Given the description of an element on the screen output the (x, y) to click on. 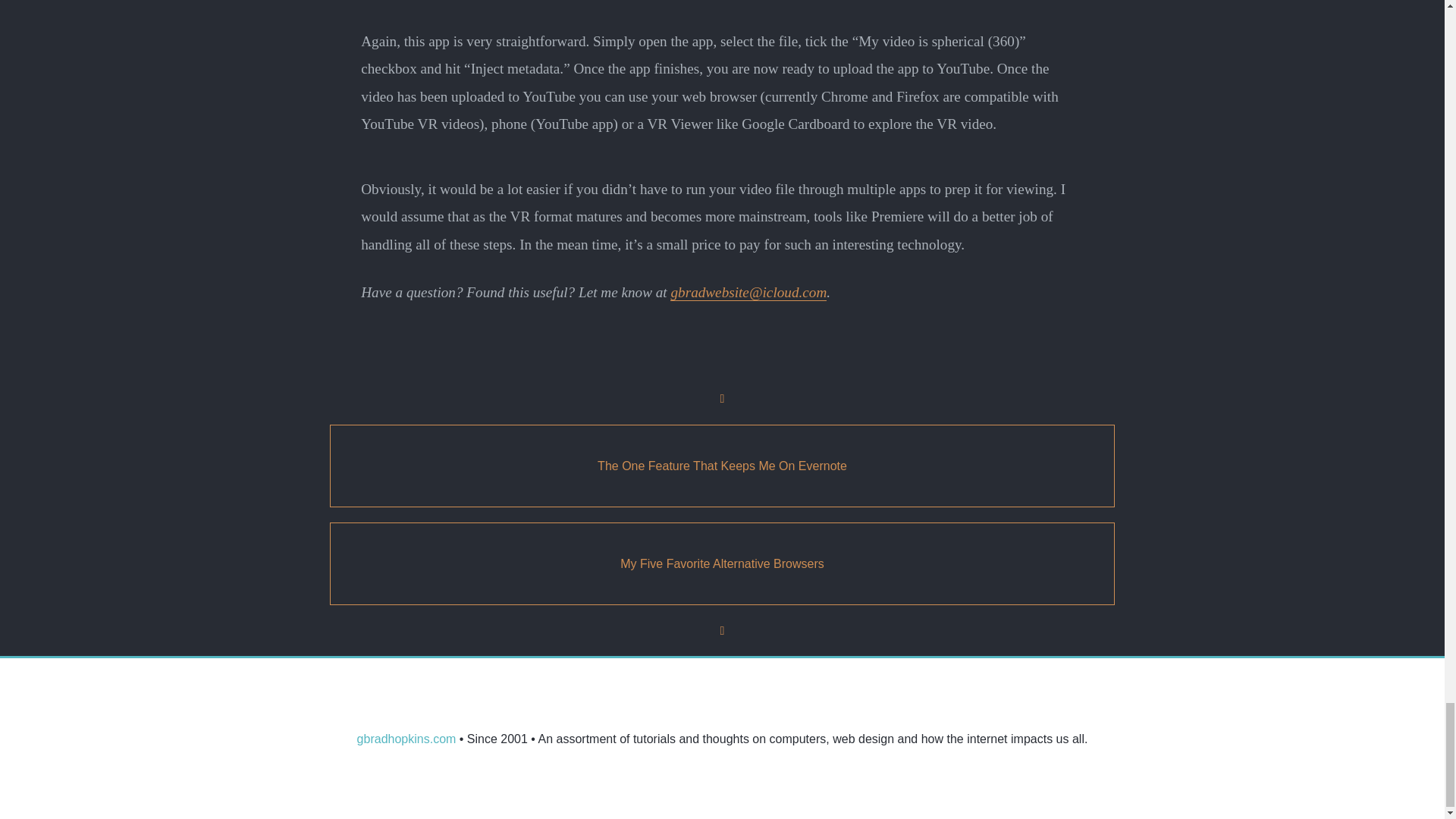
My Five Favorite Alternative Browsers (722, 563)
The One Feature That Keeps Me On Evernote (722, 465)
gbradhopkins.com (406, 738)
